Given the description of an element on the screen output the (x, y) to click on. 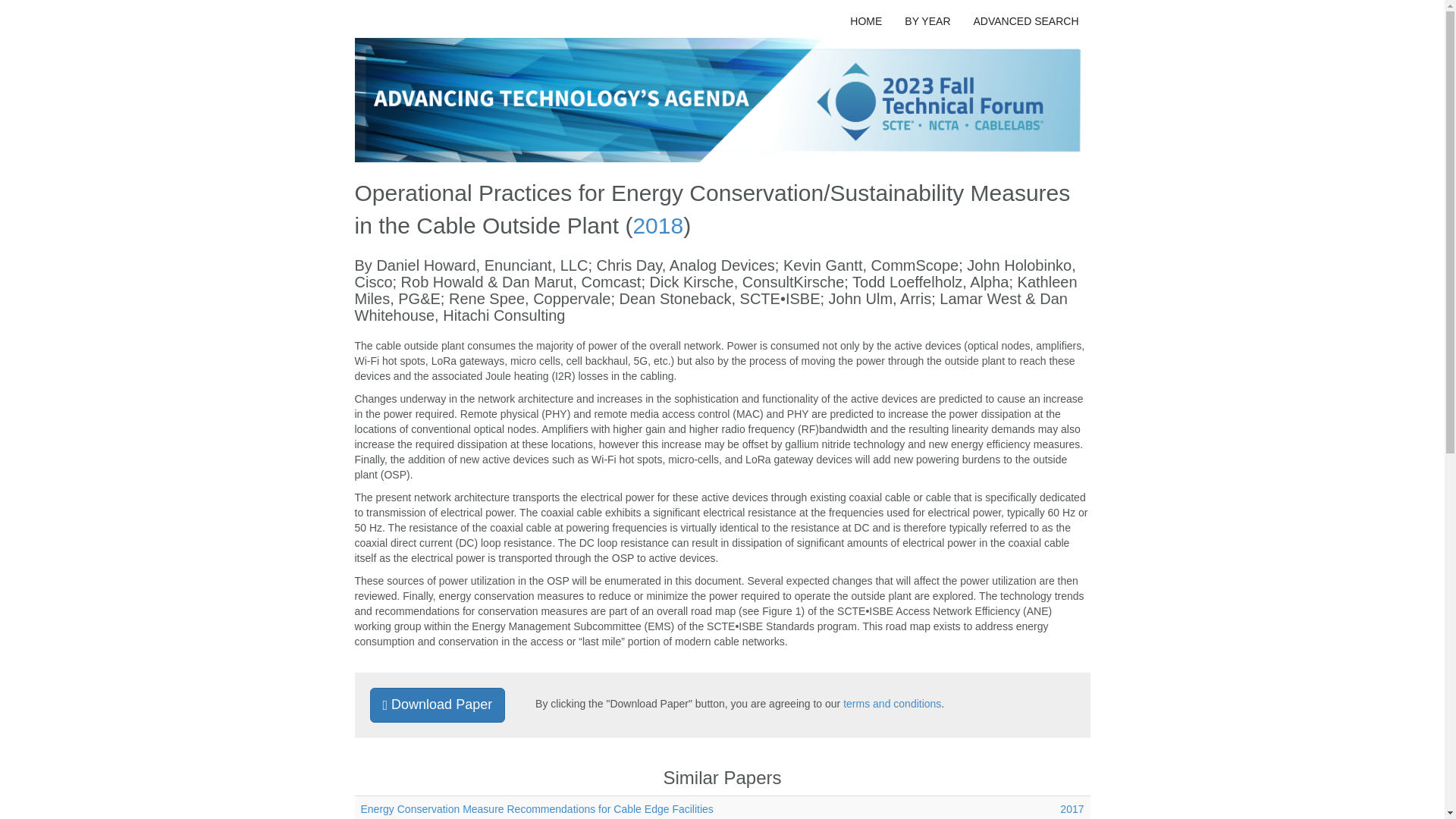
HOME (865, 20)
terms and conditions (891, 703)
ADVANCED SEARCH (1024, 20)
2017 (1071, 808)
BY YEAR (926, 20)
2018 (656, 225)
Download Paper (437, 704)
